Given the description of an element on the screen output the (x, y) to click on. 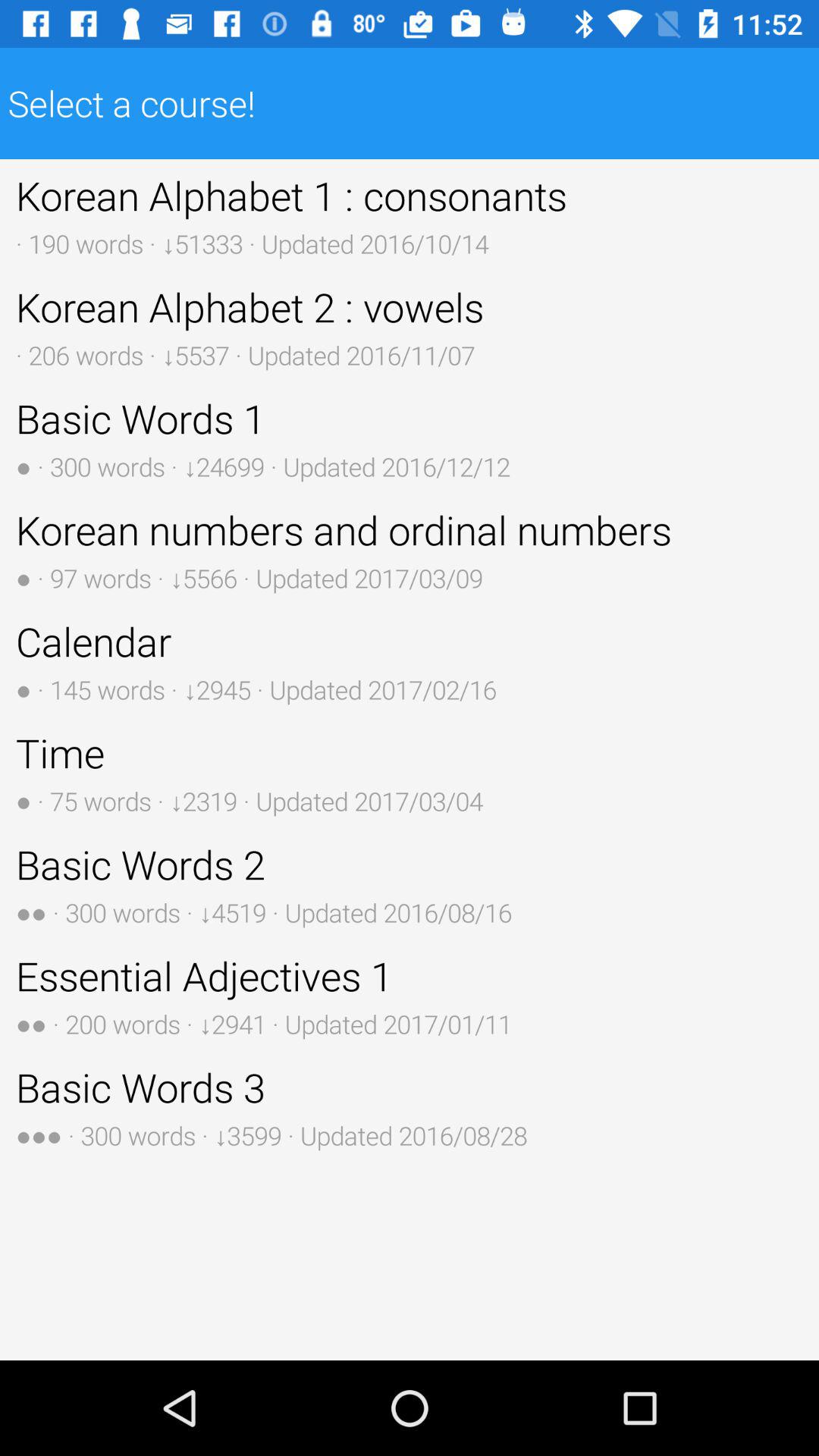
choose the item above basic words 3 button (409, 995)
